Given the description of an element on the screen output the (x, y) to click on. 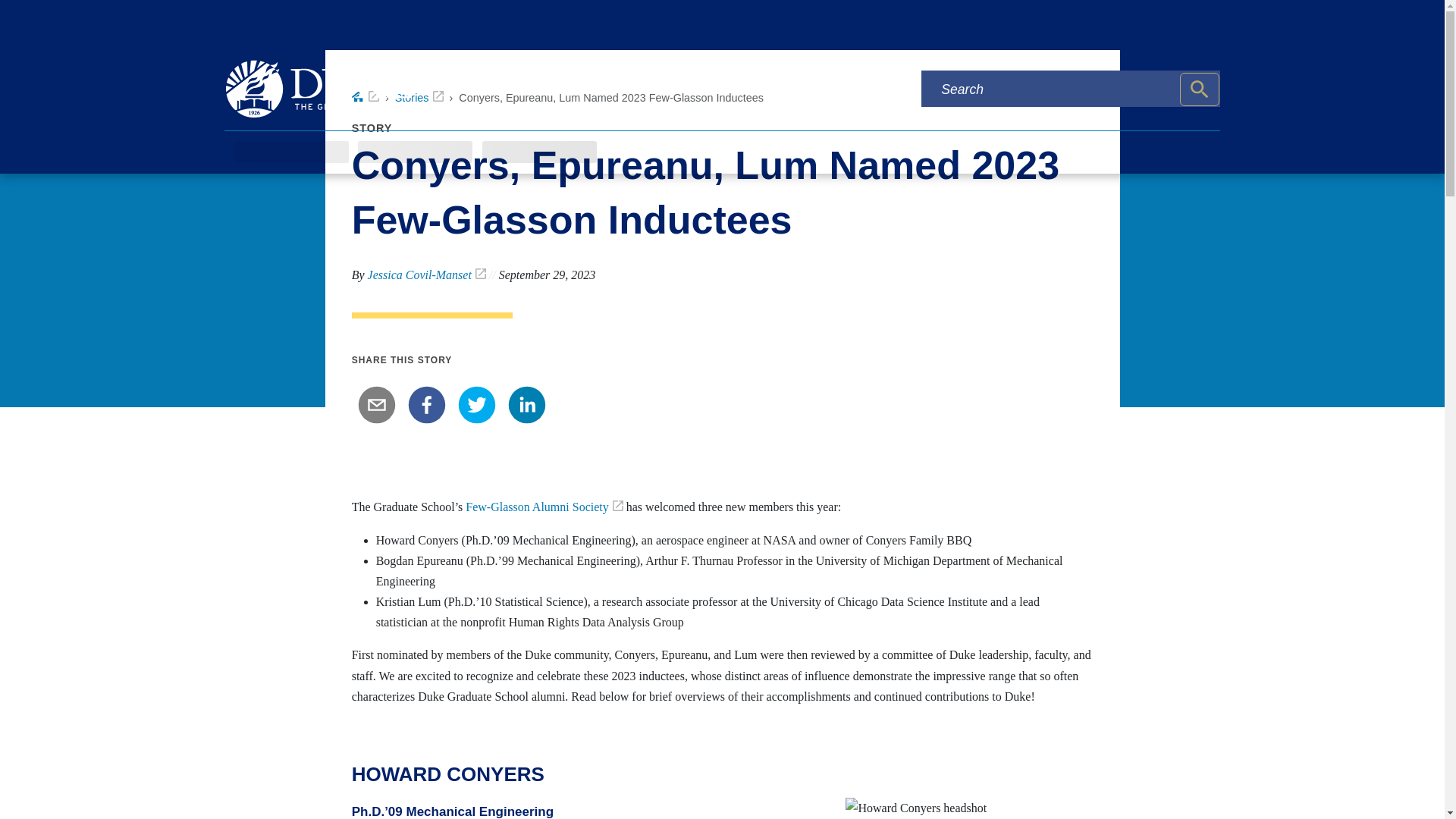
Jessica Covil-Manset (427, 274)
Few-Glasson Alumni Society (544, 506)
Stories (419, 97)
Home (365, 97)
